Given the description of an element on the screen output the (x, y) to click on. 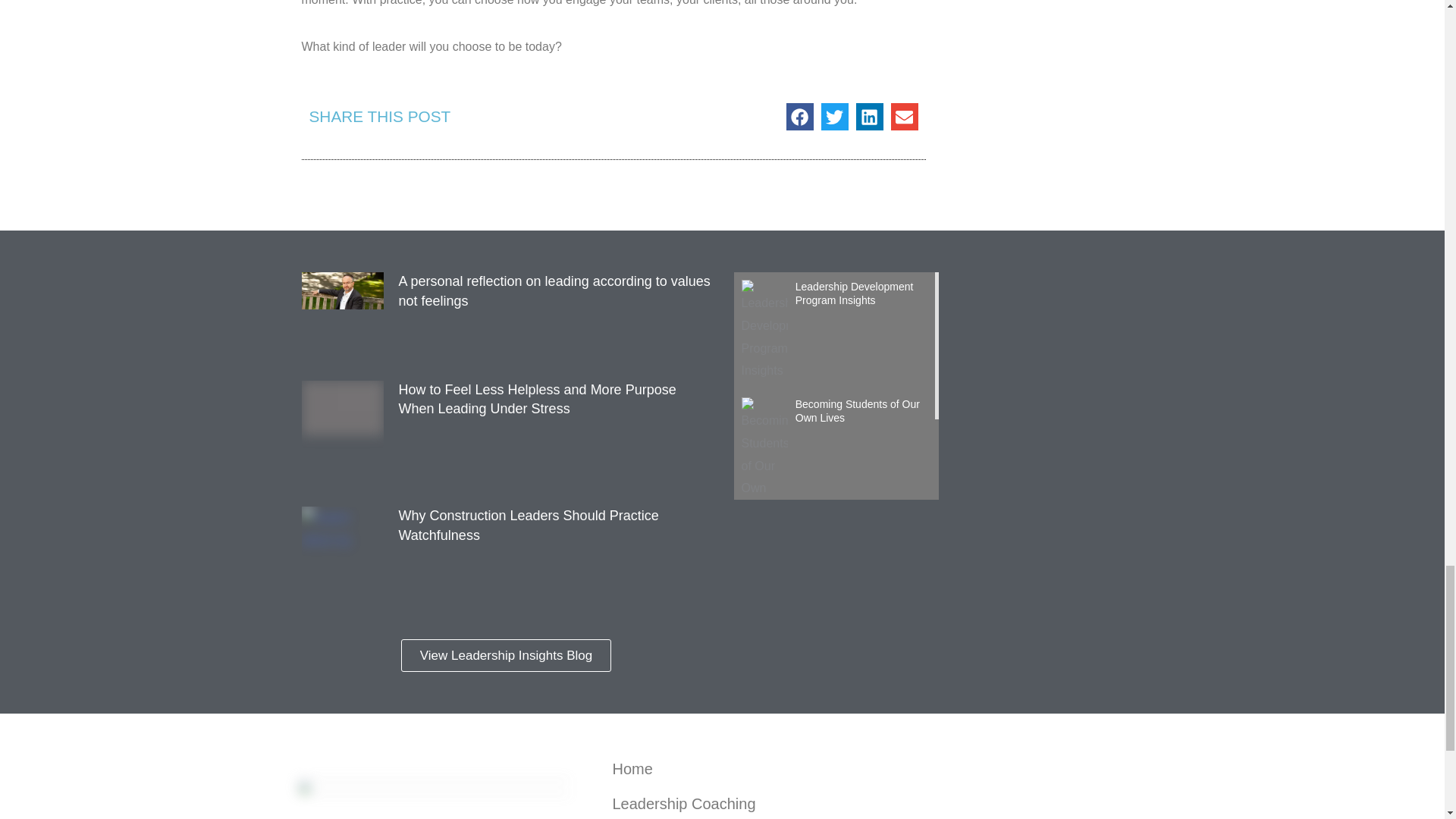
Why Construction Leaders Should Practice Watchfulness (528, 524)
